Given the description of an element on the screen output the (x, y) to click on. 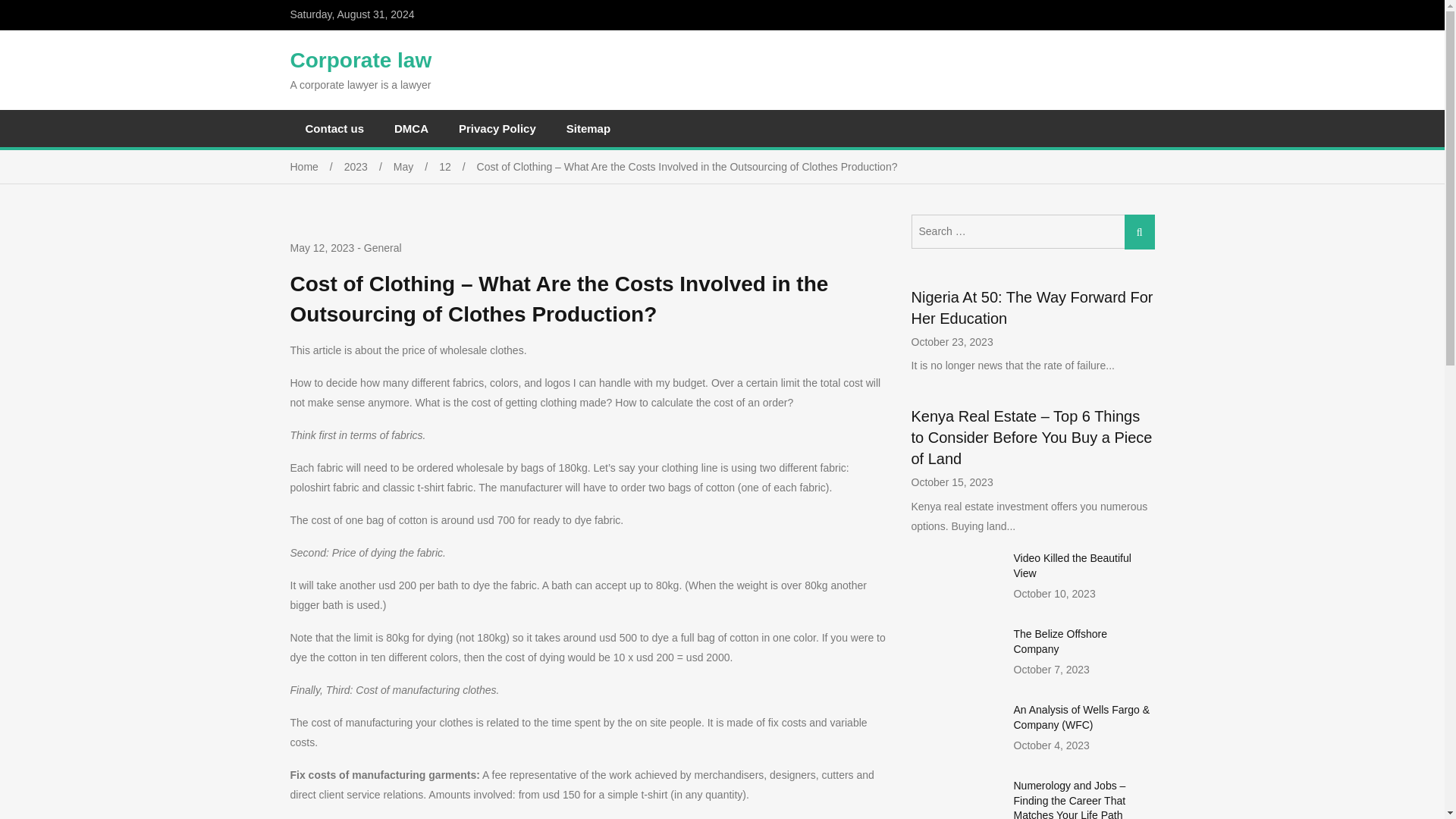
General (382, 247)
Corporate law (359, 60)
May (416, 166)
May 12, 2023 (321, 248)
12 (457, 166)
Video Killed the Beautiful View (1072, 565)
2023 (368, 166)
Nigeria At 50: The Way Forward For Her Education (1032, 307)
Sitemap (588, 128)
Privacy Policy (497, 128)
